Given the description of an element on the screen output the (x, y) to click on. 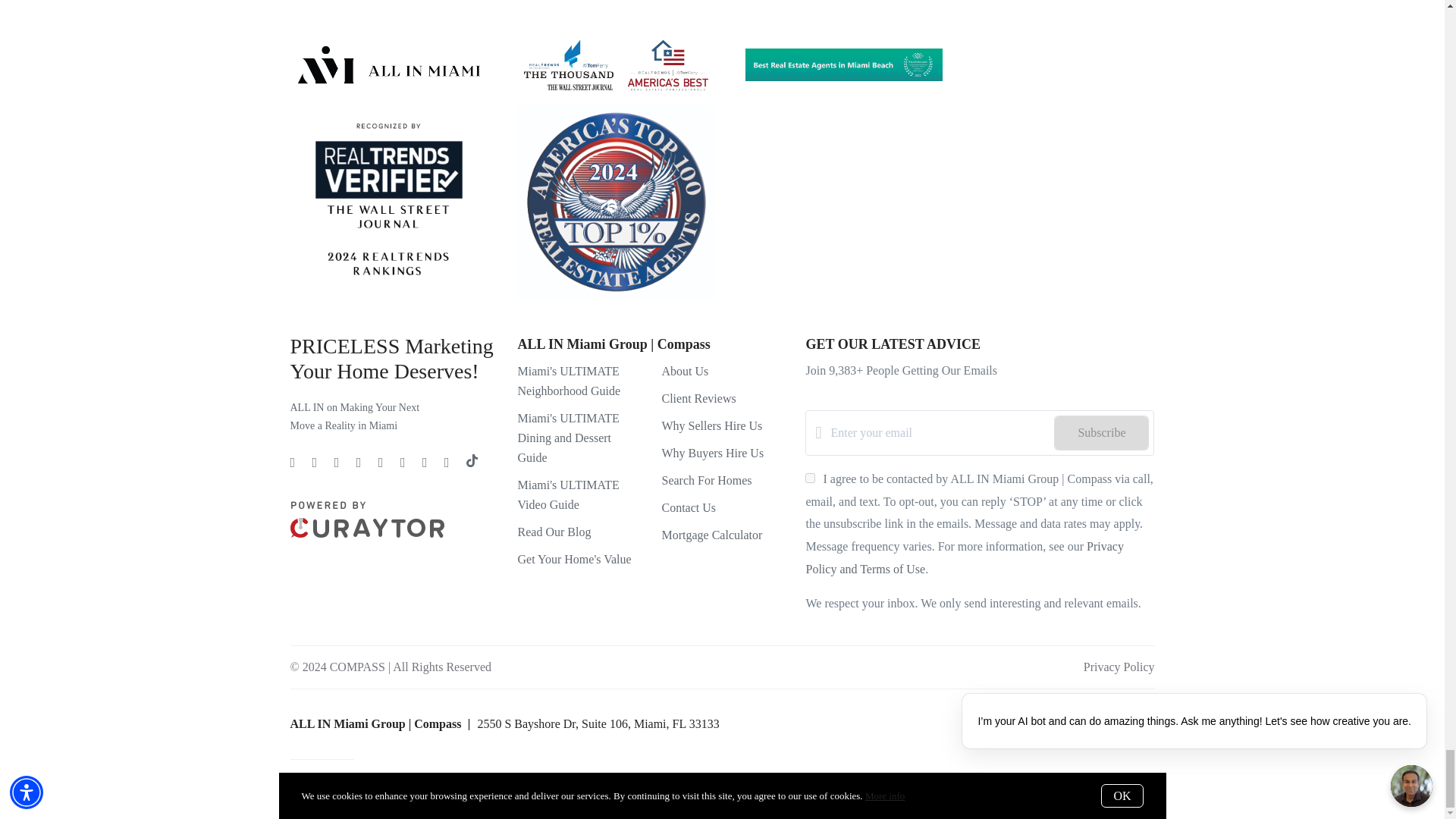
curaytor-horizontal (366, 519)
on (810, 478)
